Given the description of an element on the screen output the (x, y) to click on. 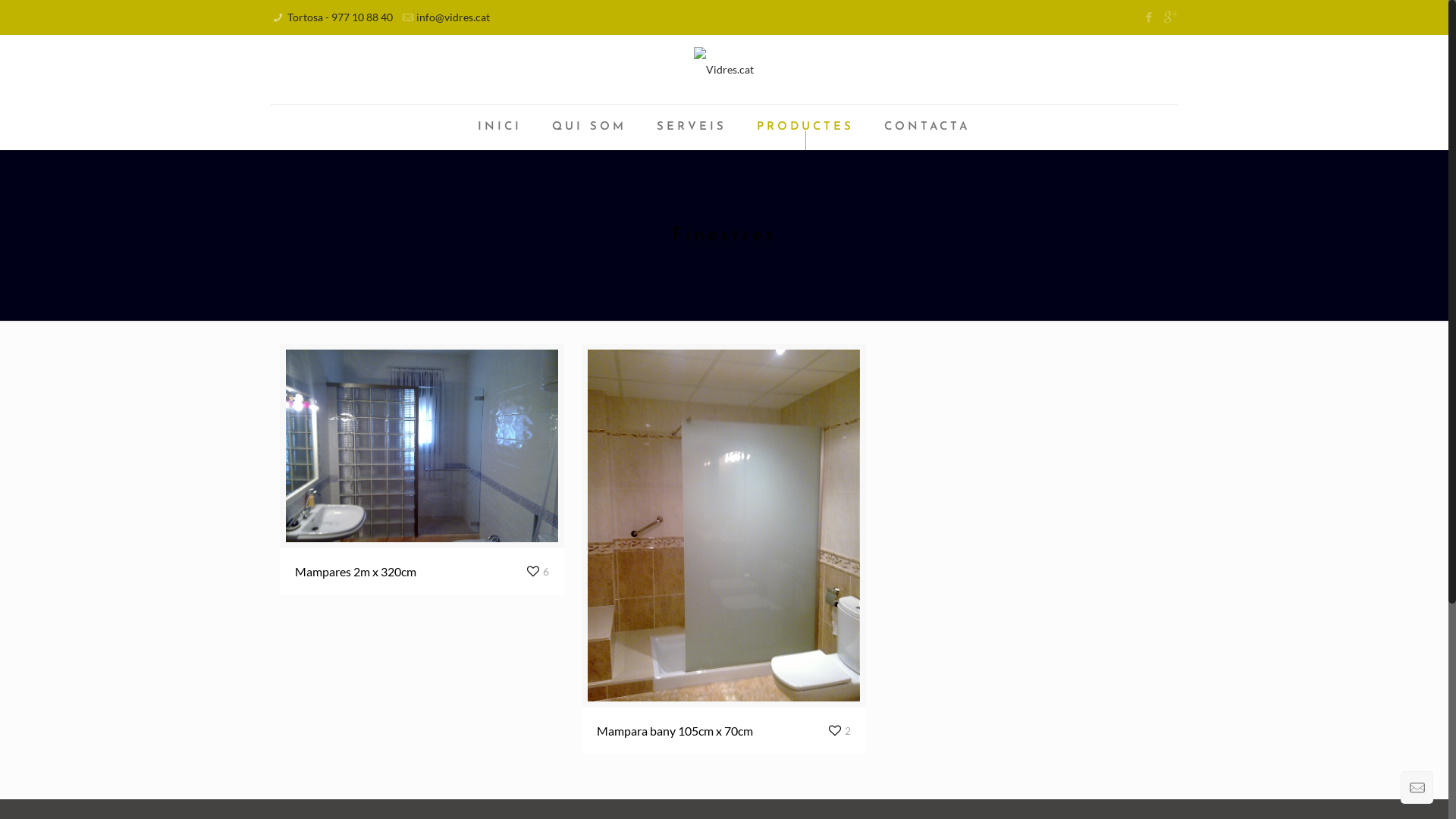
info@vidres.cat Element type: text (452, 16)
INICI Element type: text (499, 127)
Mampares 2m x 320cm Element type: text (355, 571)
6 Element type: text (536, 571)
SERVEIS Element type: text (691, 127)
CONTACTA Element type: text (927, 127)
Vidres.cat Element type: hover (723, 68)
Mampara bany 105cm x 70cm Element type: text (674, 730)
PRODUCTES Element type: text (805, 127)
QUI SOM Element type: text (588, 127)
Google+ Element type: hover (1169, 16)
2 Element type: text (838, 730)
Facebook Element type: hover (1149, 16)
Tortosa - 977 10 88 40 Element type: text (339, 16)
